Given the description of an element on the screen output the (x, y) to click on. 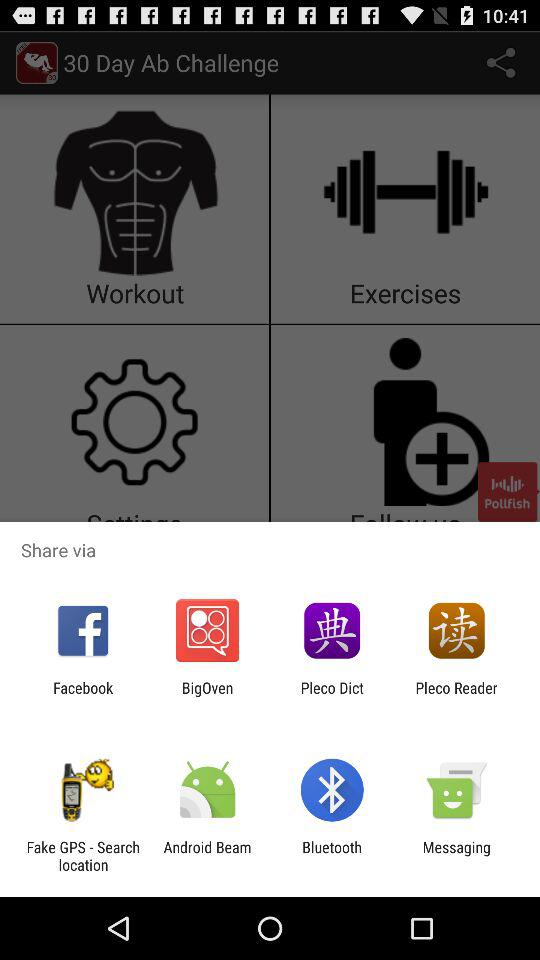
open the item to the left of the messaging icon (331, 856)
